Given the description of an element on the screen output the (x, y) to click on. 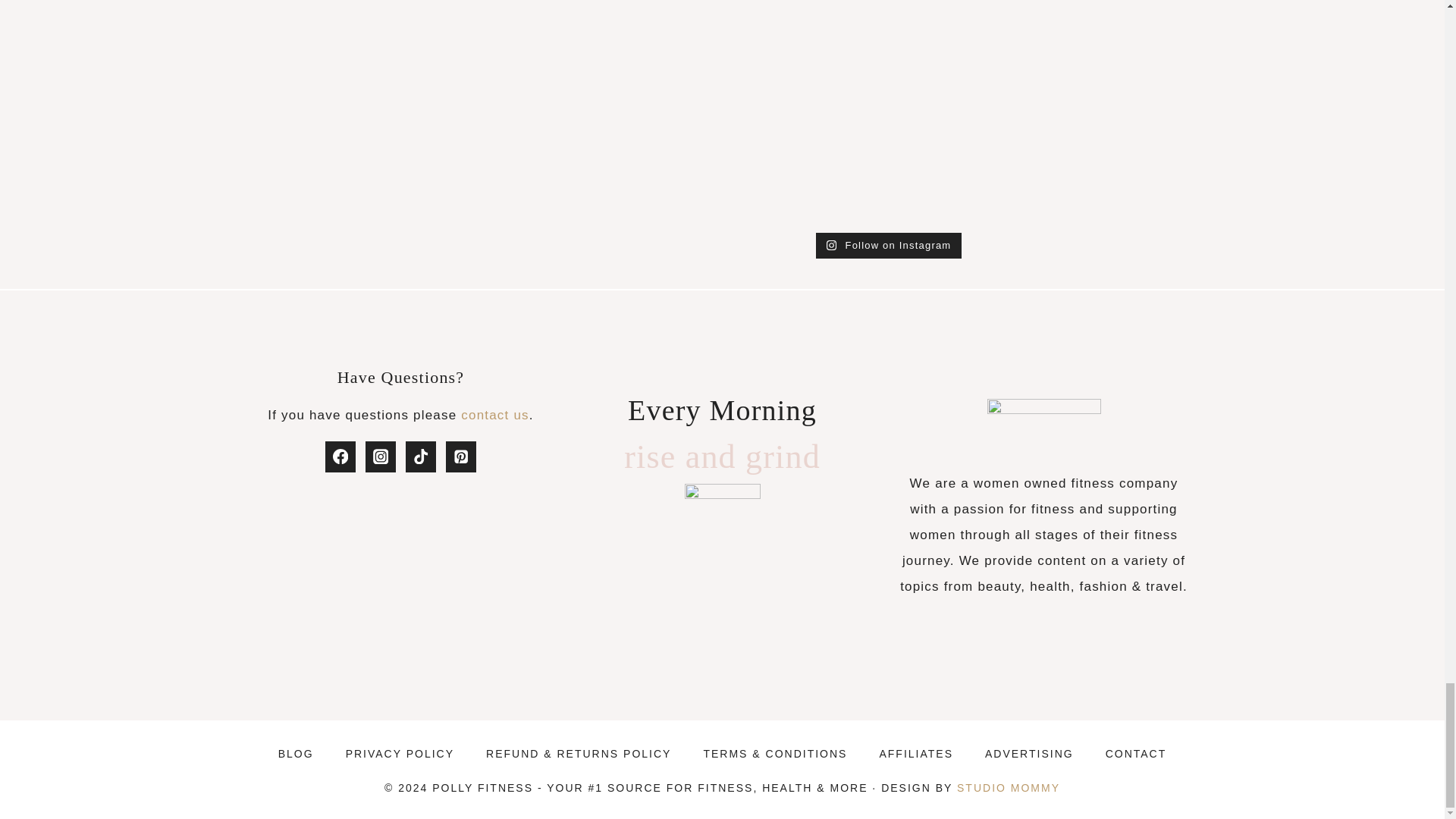
BLOG (296, 753)
PRIVACY POLICY (400, 753)
contact us (495, 414)
Follow on Instagram (888, 245)
